Given the description of an element on the screen output the (x, y) to click on. 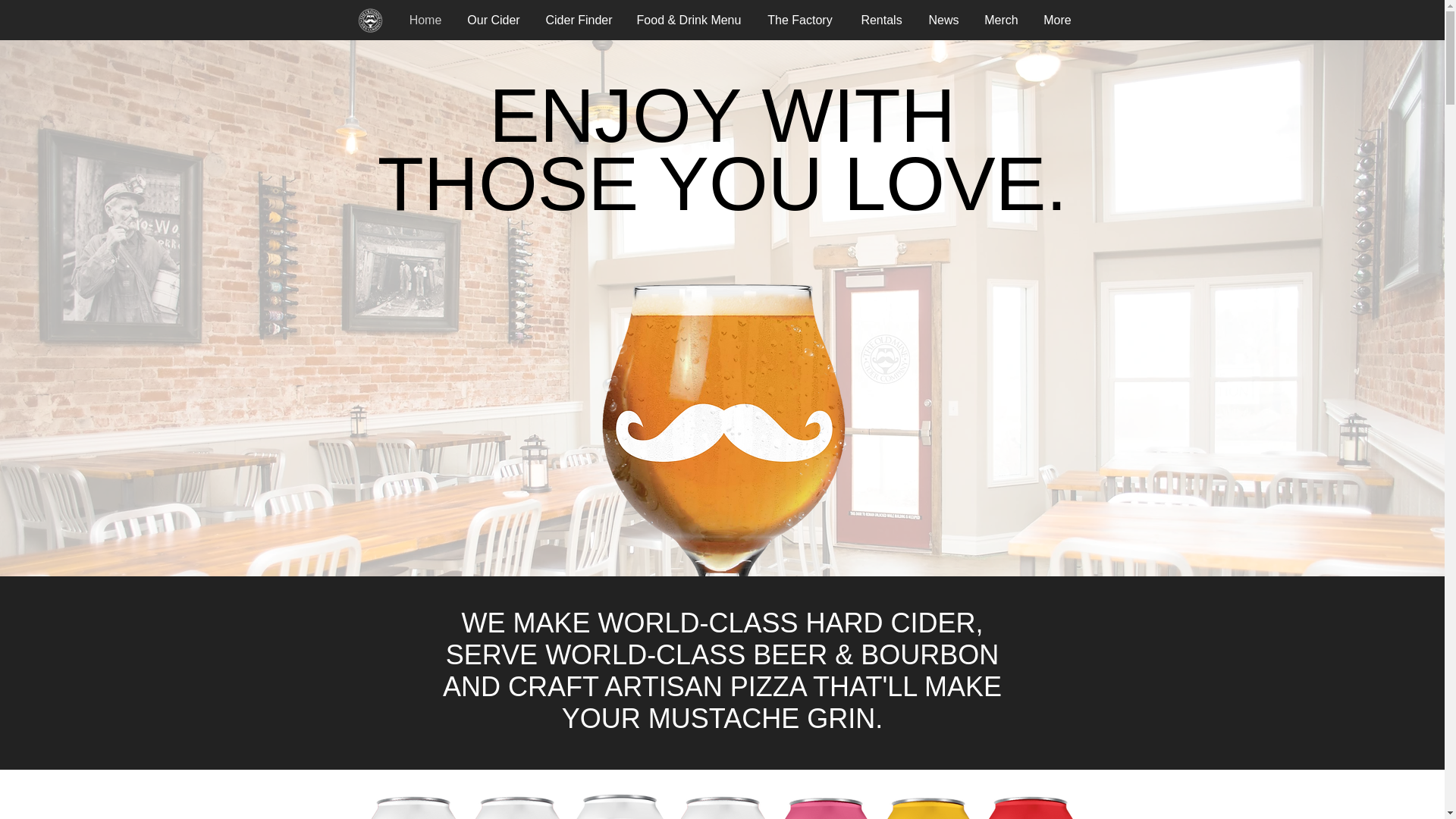
Cider Finder (578, 20)
Rentals (881, 20)
The Factory (799, 20)
Home (425, 20)
Merch (1001, 20)
Our Cider (493, 20)
News (943, 20)
